Given the description of an element on the screen output the (x, y) to click on. 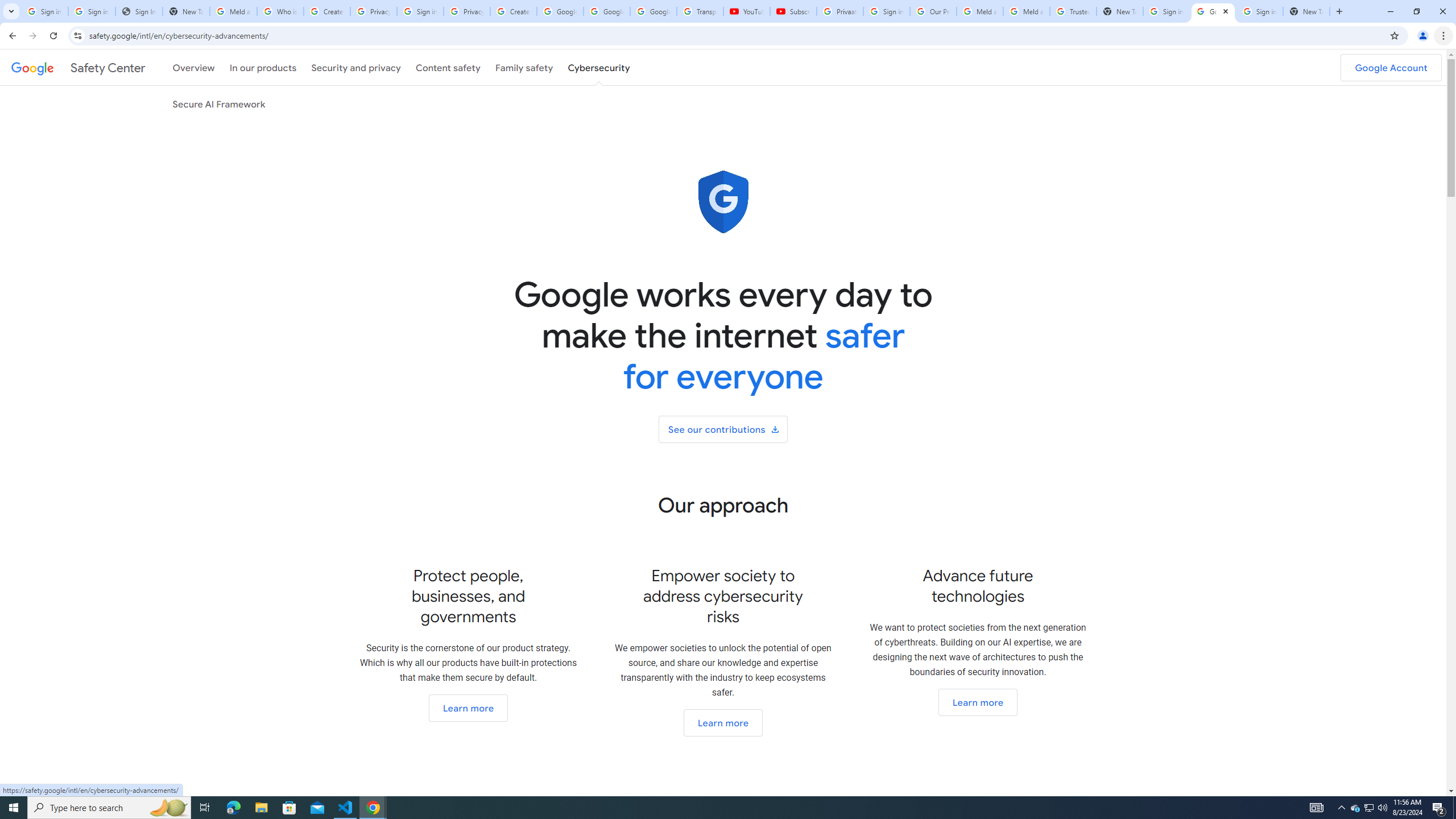
Who is my administrator? - Google Account Help (279, 11)
Google Cybersecurity Innovations - Google Safety Center (1213, 11)
Cybersecurity (598, 67)
YouTube (745, 11)
Google Account (1390, 67)
Sign in - Google Accounts (1259, 11)
Create your Google Account (326, 11)
Create your Google Account (512, 11)
